Given the description of an element on the screen output the (x, y) to click on. 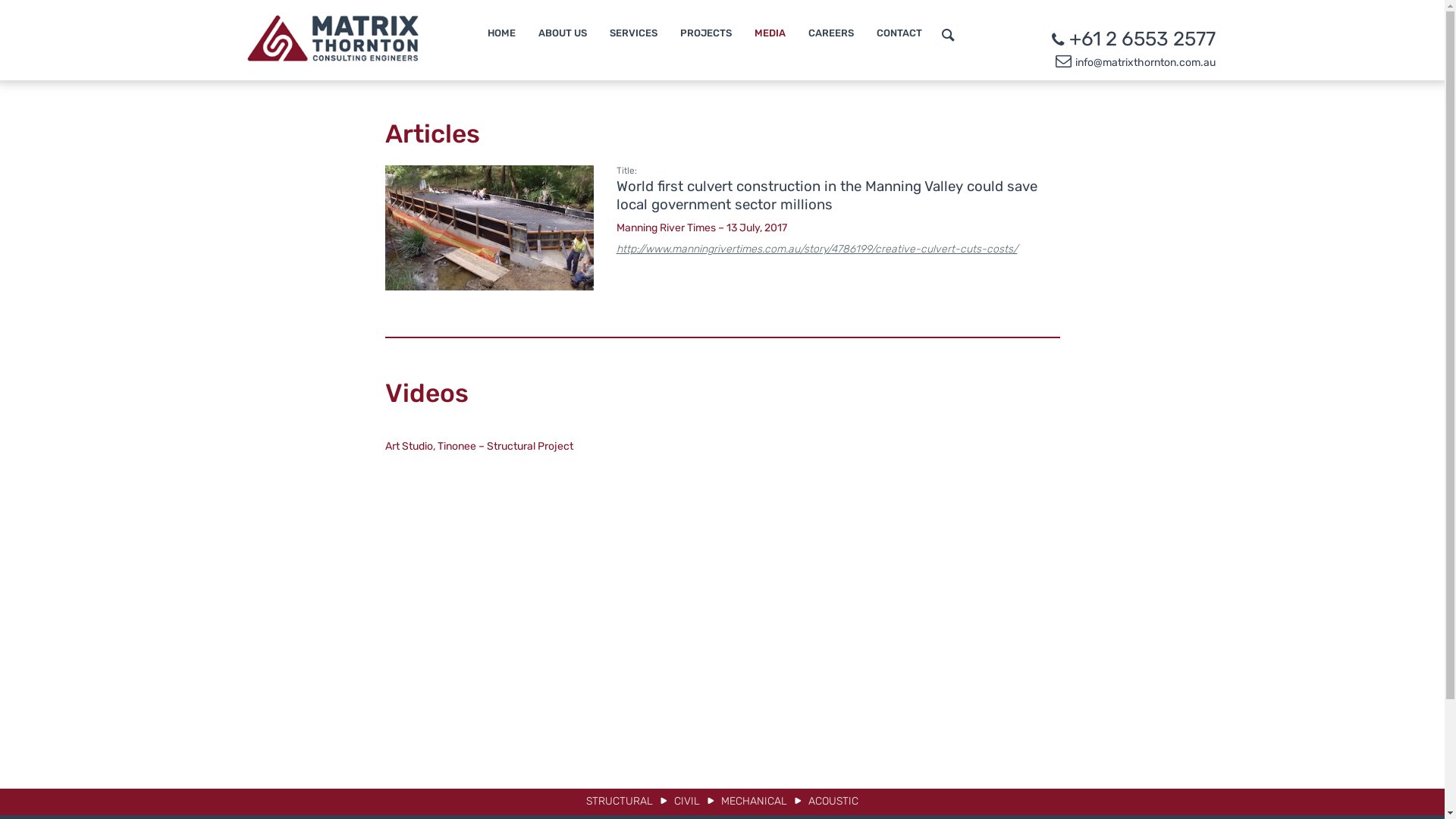
SERVICES Element type: text (633, 32)
HOME Element type: text (500, 32)
ABOUT US Element type: text (562, 32)
info@matrixthornton.com.au Element type: text (1145, 62)
CAREERS Element type: text (830, 32)
+61 2 6553 2577 Element type: text (1142, 38)
Matrix Thornton Element type: hover (335, 57)
CONTACT Element type: text (899, 32)
PROJECTS Element type: text (705, 32)
MEDIA Element type: text (768, 32)
